Given the description of an element on the screen output the (x, y) to click on. 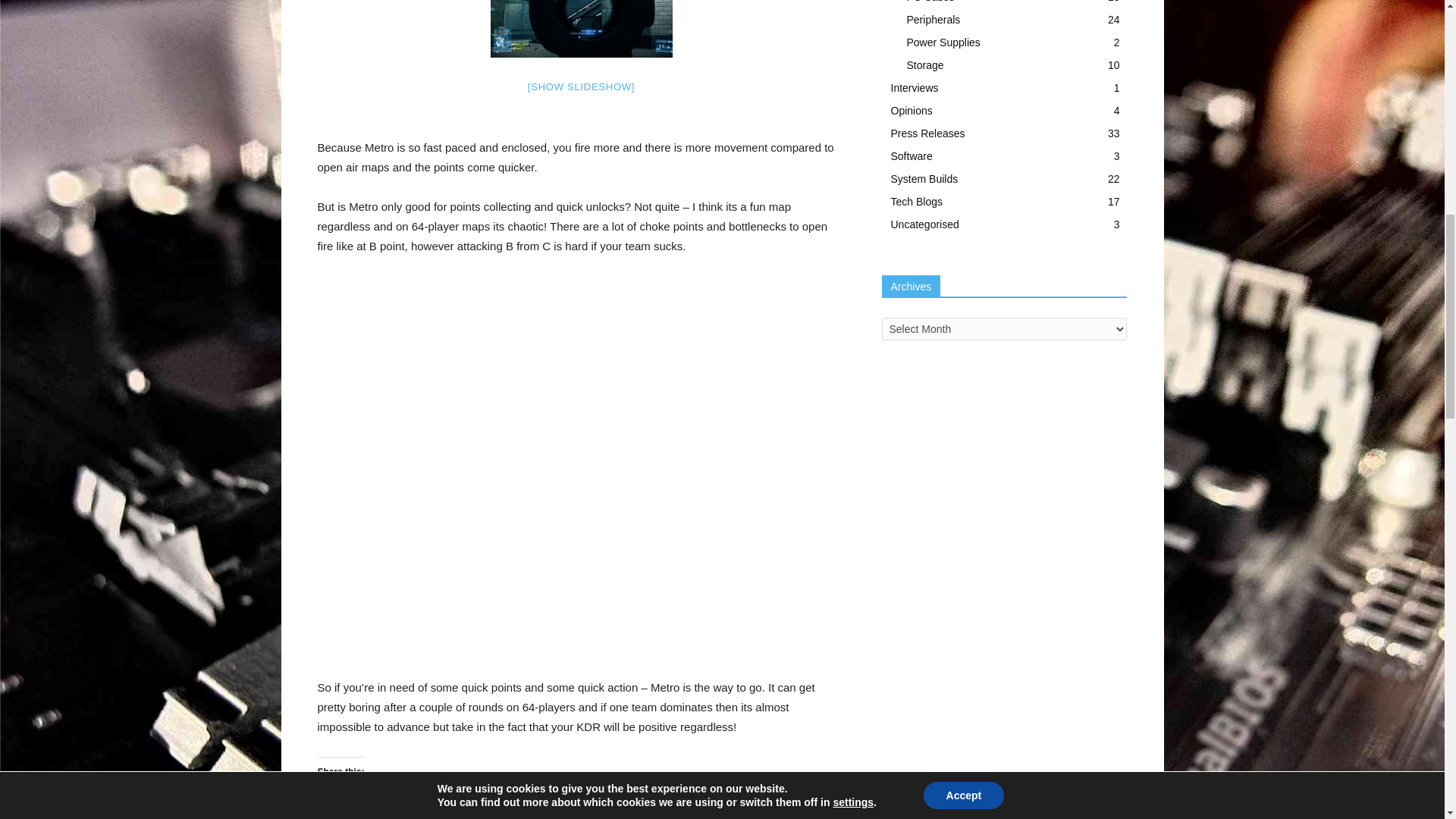
Click to share on Twitter (328, 798)
Click to share on Facebook (359, 798)
battlefield3 operationmetro (580, 28)
